Given the description of an element on the screen output the (x, y) to click on. 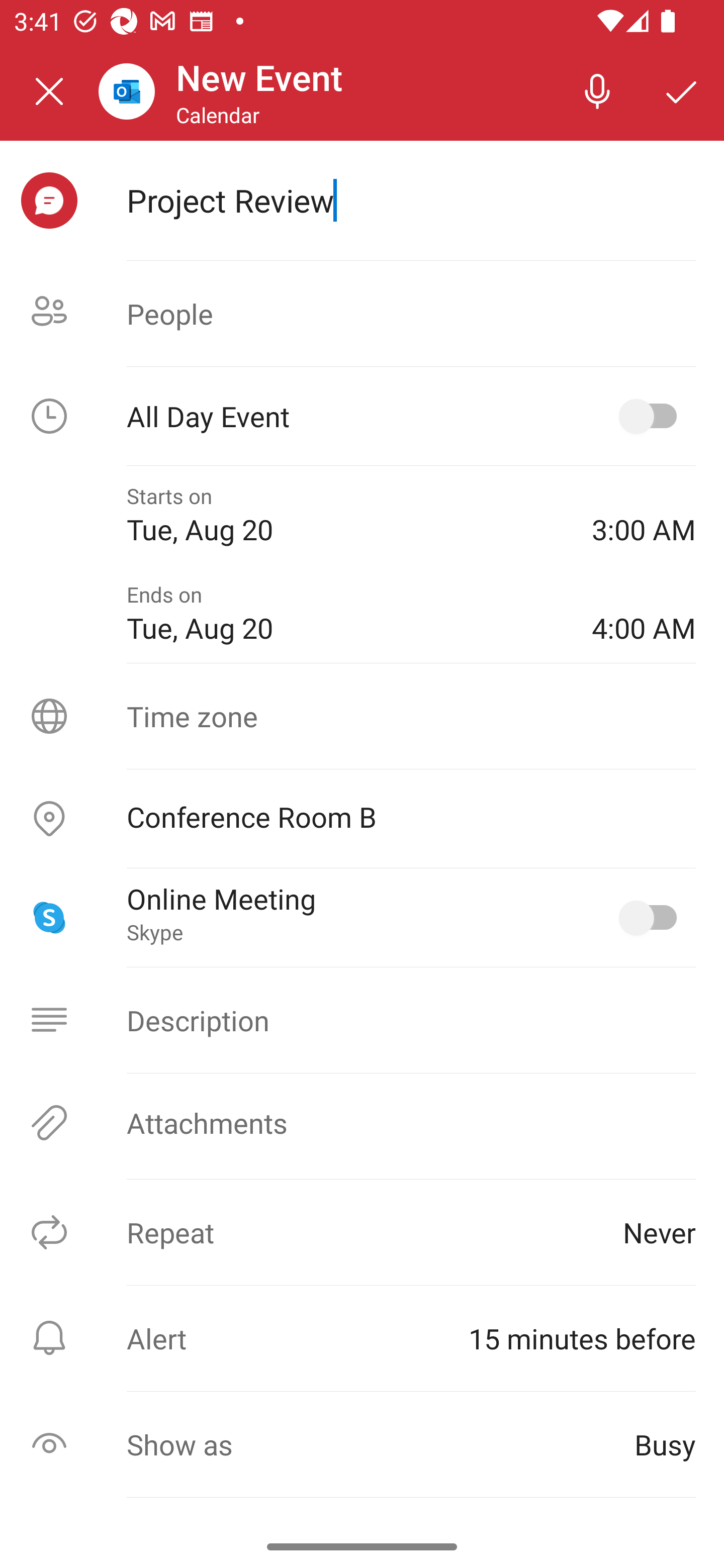
Close (49, 91)
Save (681, 90)
Project Review (410, 200)
review selected, event icon picker (48, 200)
People (362, 313)
All Day Event (362, 415)
Starts on Tue, Aug 20 (344, 514)
3:00 AM (643, 514)
Ends on Tue, Aug 20 (344, 613)
4:00 AM (643, 613)
Time zone (362, 715)
Location, Conference Room B Conference Room B (362, 818)
Online Meeting, Skype selected (651, 917)
Description (362, 1019)
Attachments (362, 1122)
Repeat Never (362, 1232)
Alert ⁨15 minutes before (362, 1337)
Show as Busy (362, 1444)
